Given the description of an element on the screen output the (x, y) to click on. 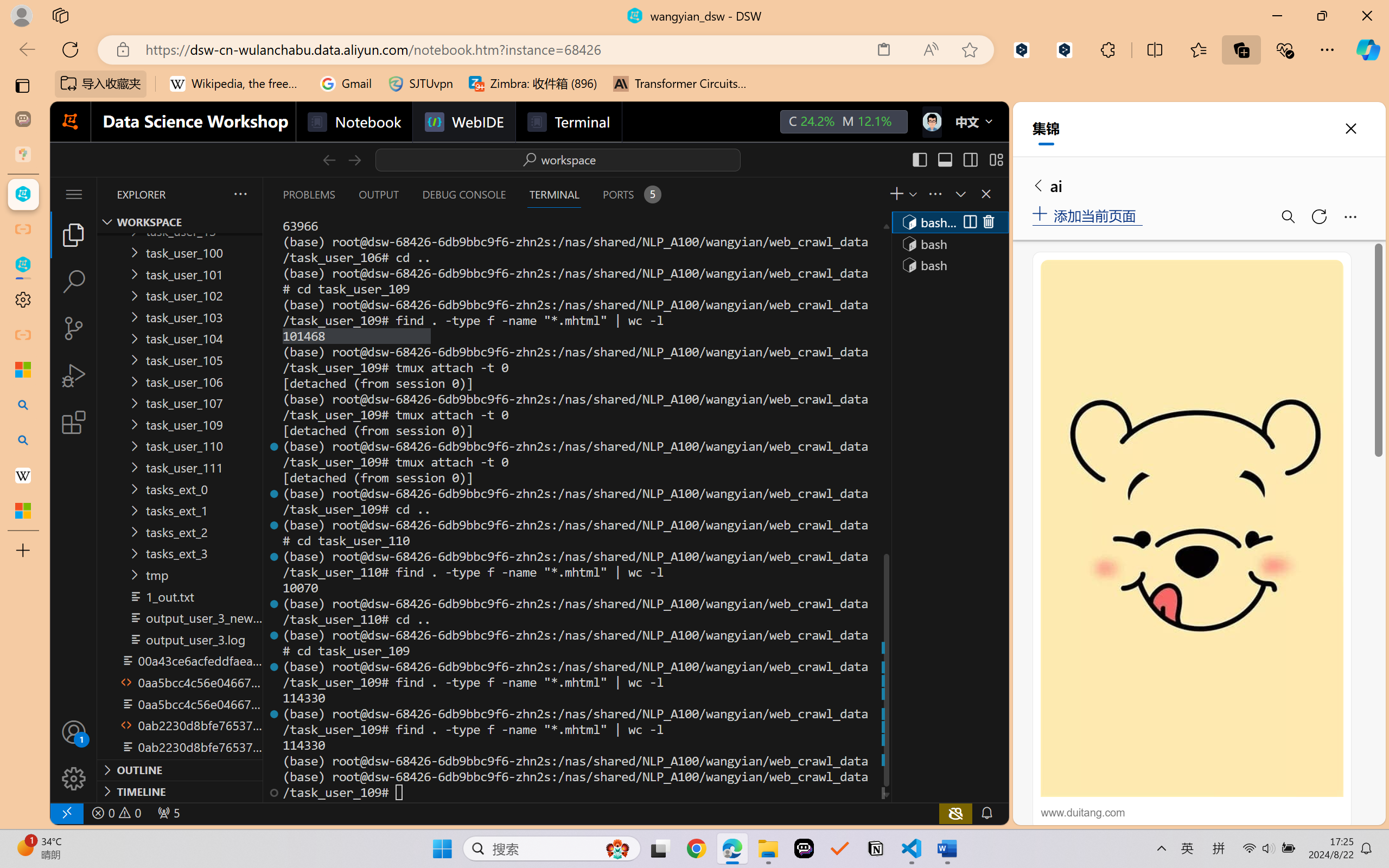
Explorer (Ctrl+Shift+E) (73, 234)
Timeline Section (179, 791)
Run and Debug (Ctrl+Shift+D) (73, 375)
Manage (73, 778)
Manage (73, 755)
Application Menu (73, 194)
remote (66, 812)
Terminal 1 bash (949, 221)
